Given the description of an element on the screen output the (x, y) to click on. 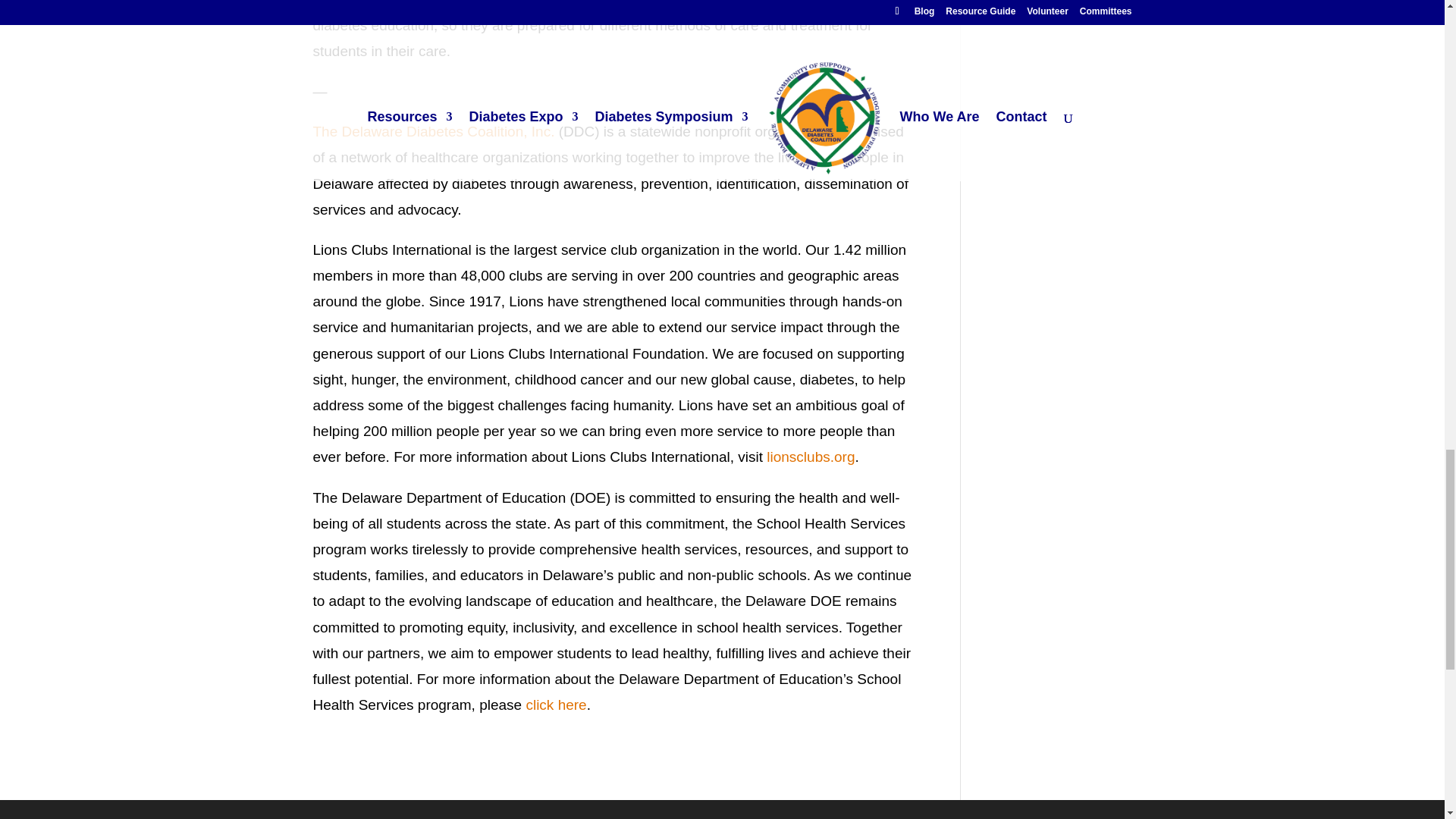
lionsclubs.org (810, 456)
click here (555, 704)
The Delaware Diabetes Coalition, Inc. (433, 131)
